Given the description of an element on the screen output the (x, y) to click on. 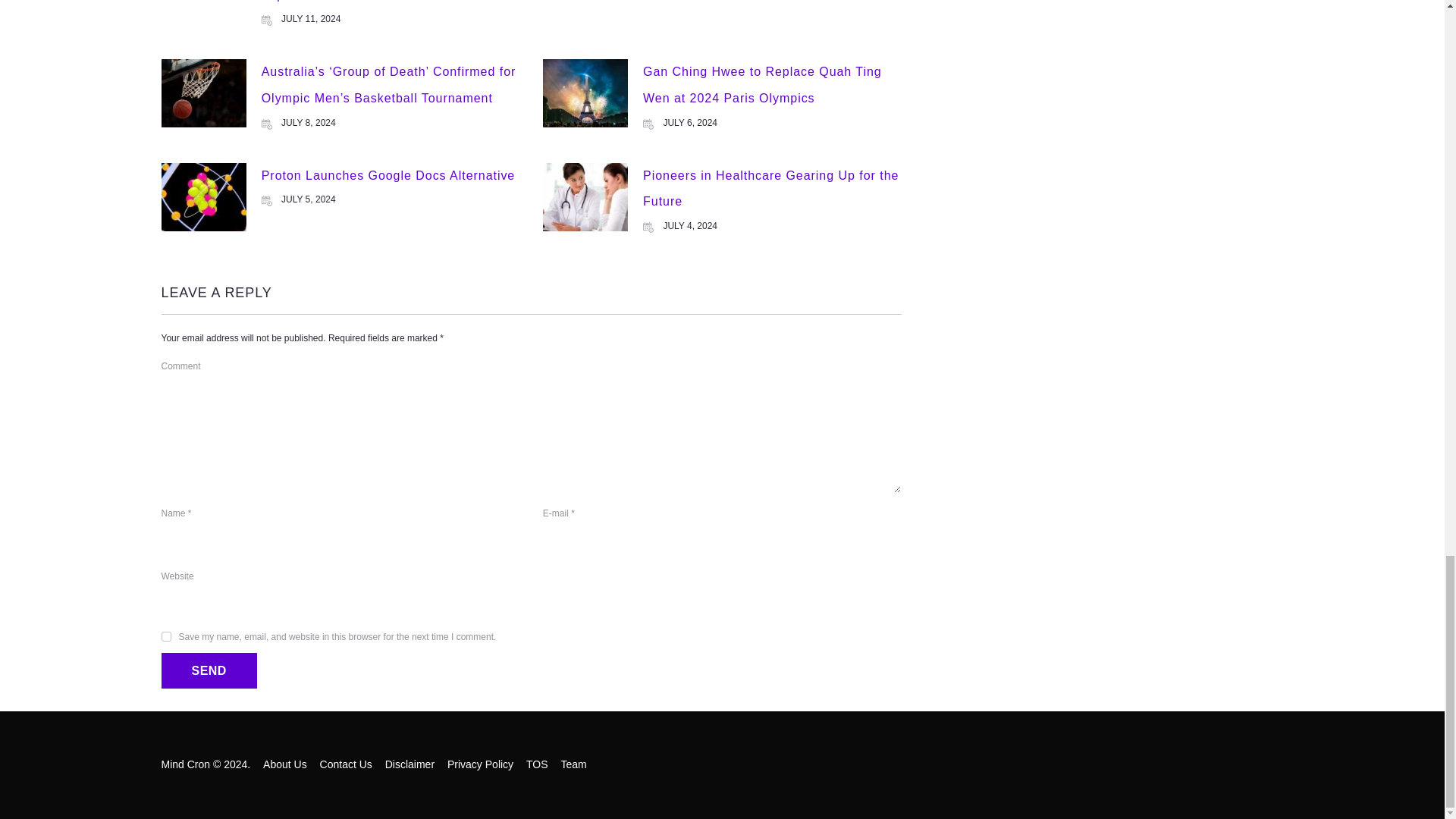
Send (208, 670)
